Given the description of an element on the screen output the (x, y) to click on. 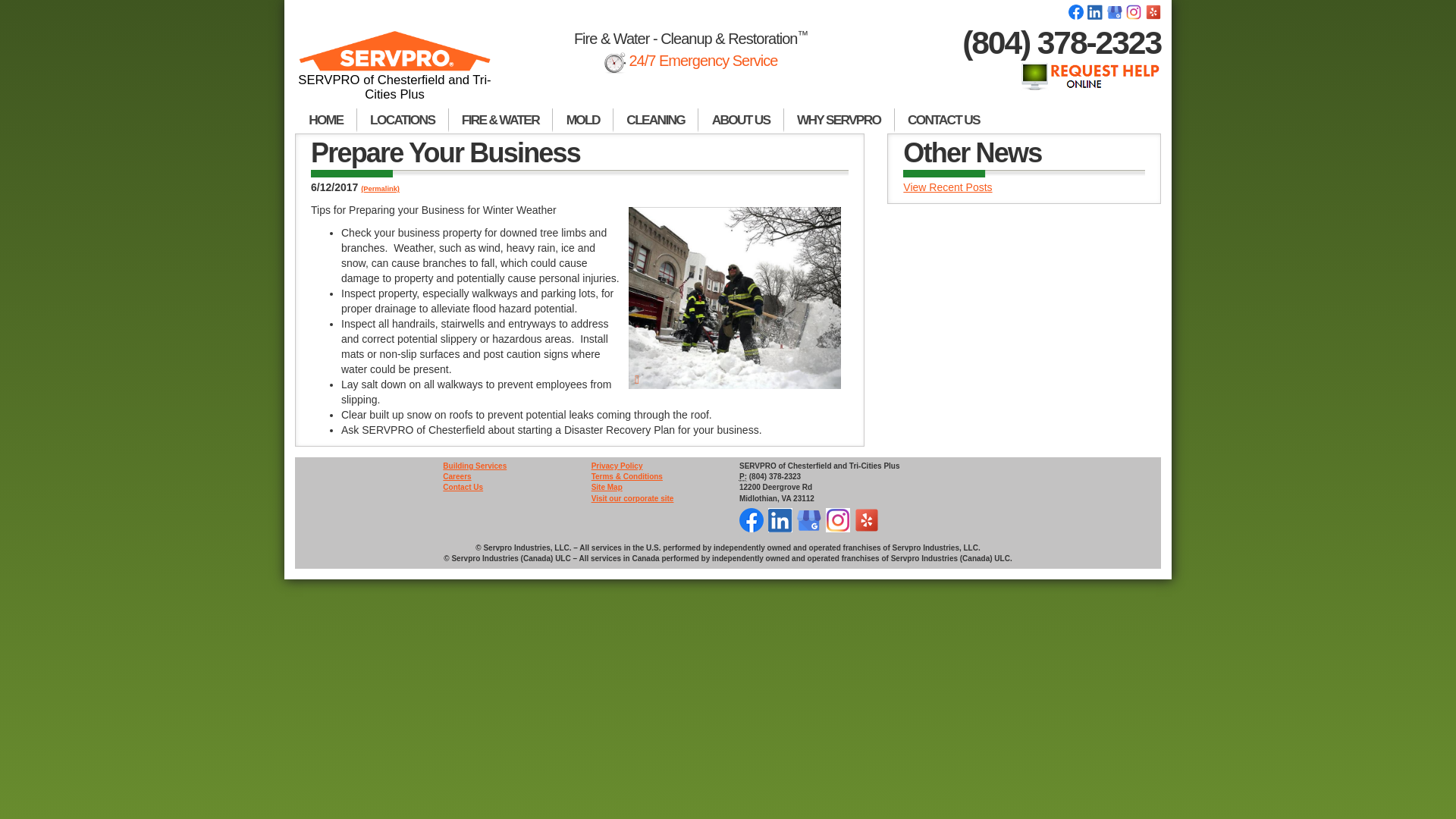
MOLD (582, 120)
SERVPRO of Chesterfield and Tri-Cities Plus (395, 72)
CLEANING (655, 120)
HOME (325, 120)
LOCATIONS (402, 120)
